Given the description of an element on the screen output the (x, y) to click on. 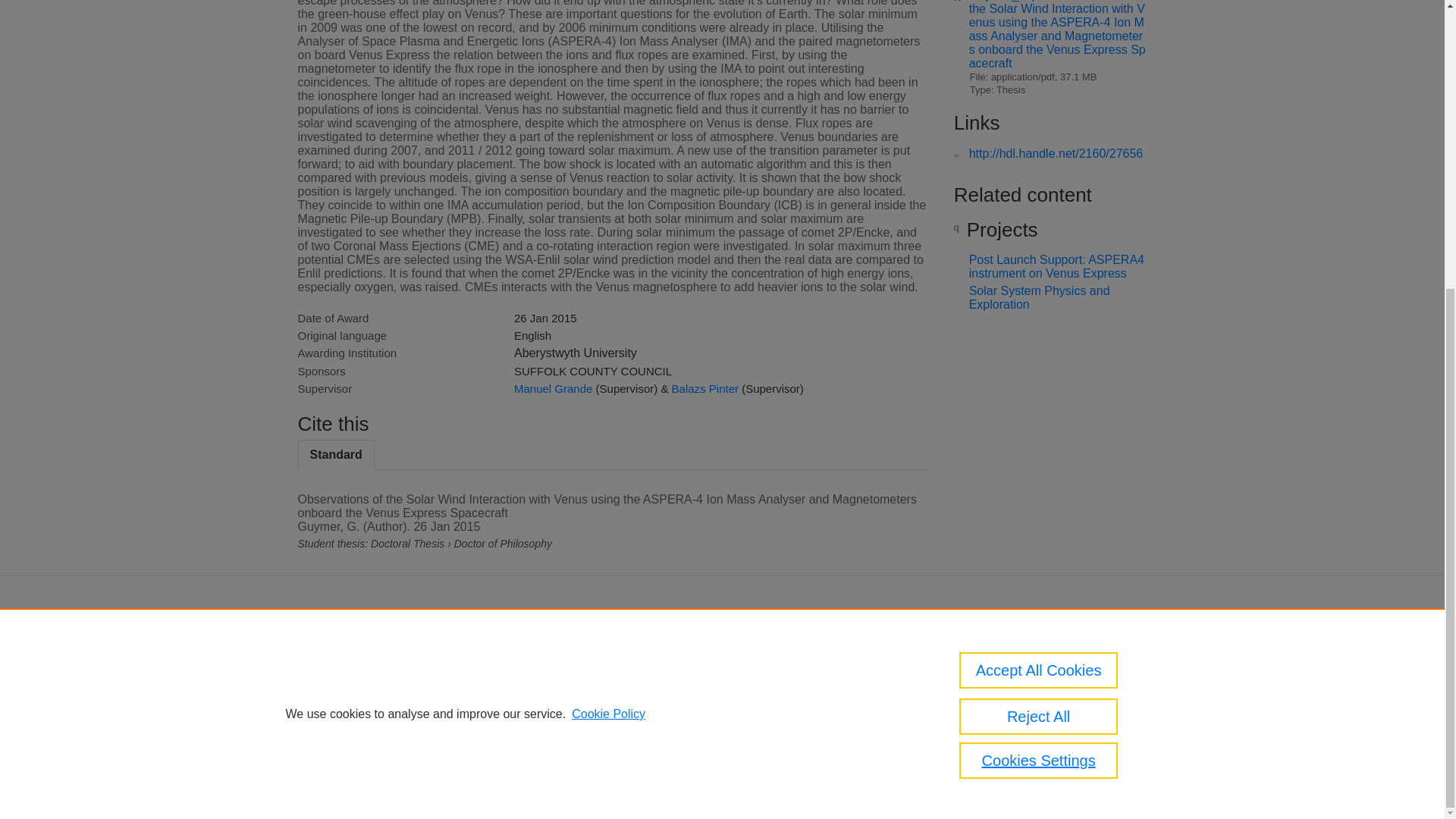
Balazs Pinter (704, 388)
Manuel Grande (552, 388)
About web accessibility (1024, 695)
Post Launch Support: ASPERA4 instrument on Venus Express (1056, 266)
Pure (620, 651)
Contact us (1125, 657)
use of cookies (708, 726)
Report vulnerability (1016, 715)
Scopus (652, 651)
Aberystwyth Research Portal data protection policy (1022, 663)
